Given the description of an element on the screen output the (x, y) to click on. 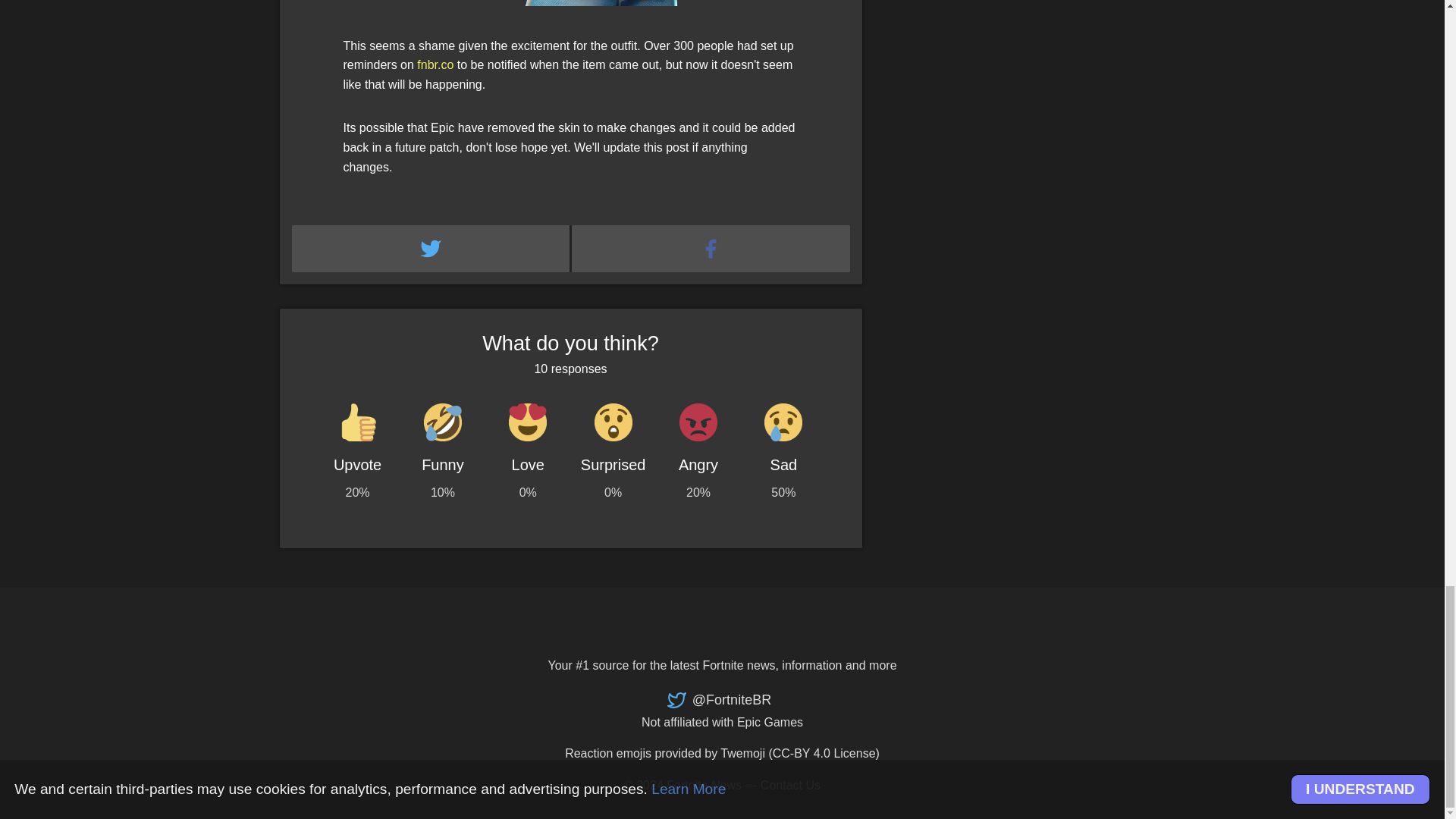
Share on Twitter (431, 248)
Twemoji (742, 753)
Twitter (719, 699)
Contact Us (790, 784)
fnbr.co (434, 64)
Fortnite News (703, 784)
Share on Facebook (711, 248)
